Given the description of an element on the screen output the (x, y) to click on. 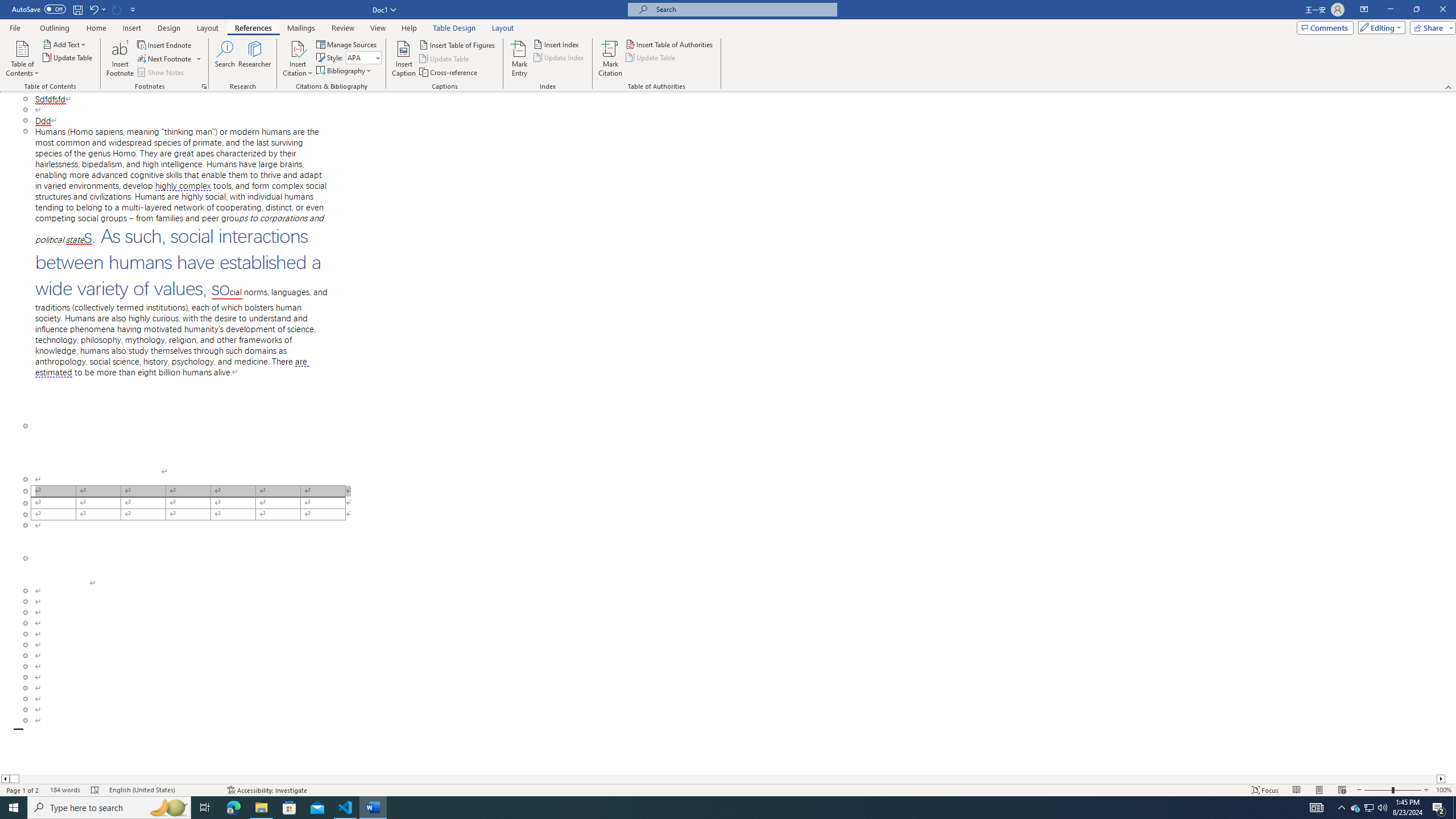
Insert Citation (297, 58)
